Given the description of an element on the screen output the (x, y) to click on. 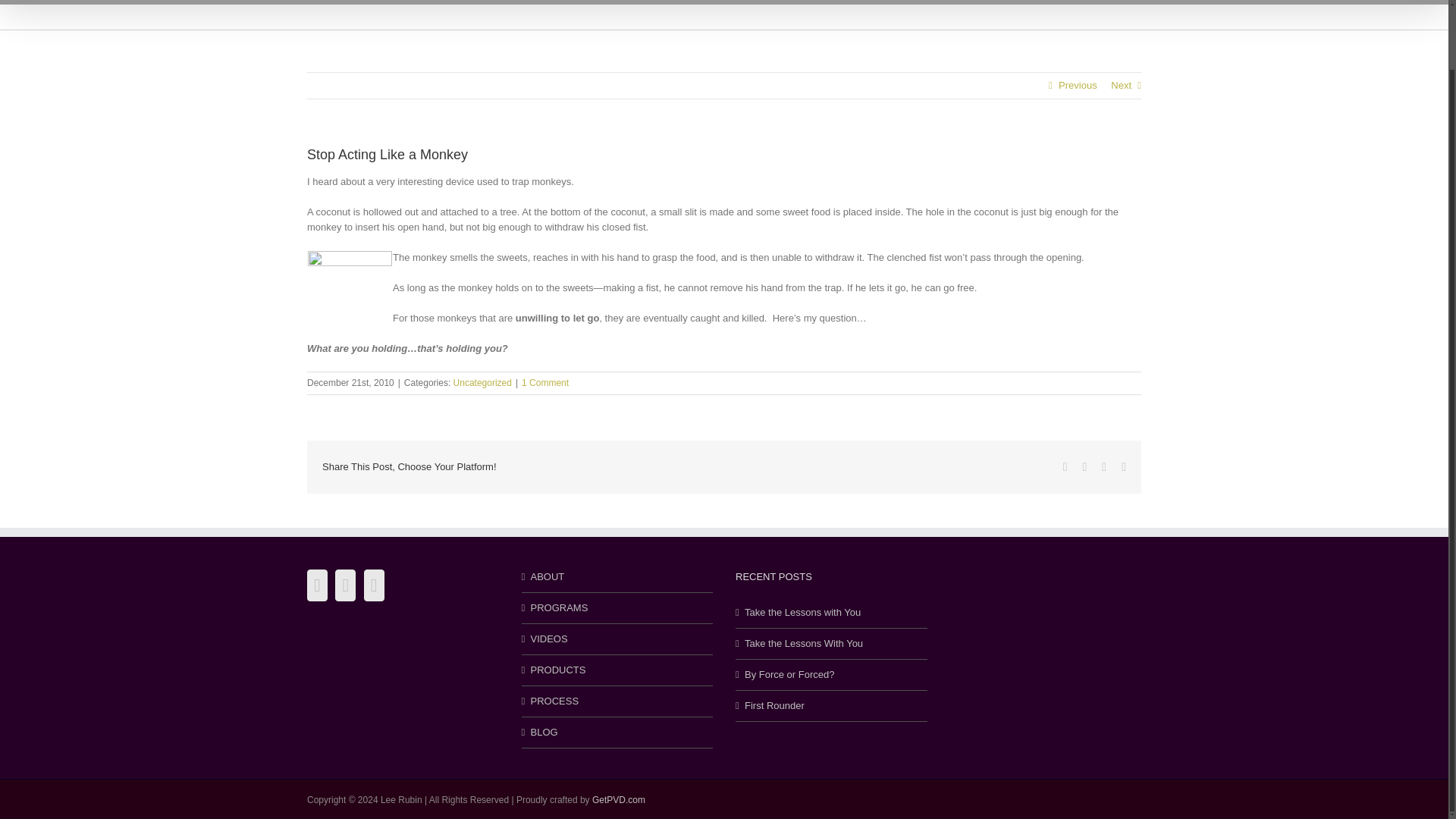
Take the Lessons With You (832, 643)
1 Comment (545, 382)
Products  (923, 1)
First Rounder (832, 705)
By Force or Forced? (832, 674)
Our Process (1032, 1)
About Lee Rubin (622, 1)
PROCESS (618, 701)
ABOUT (622, 1)
ABOUT (618, 576)
Uncategorized (482, 382)
PROGRAMS (721, 1)
BLOG (1117, 1)
PRODUCTS (923, 1)
Previous (1077, 85)
